Given the description of an element on the screen output the (x, y) to click on. 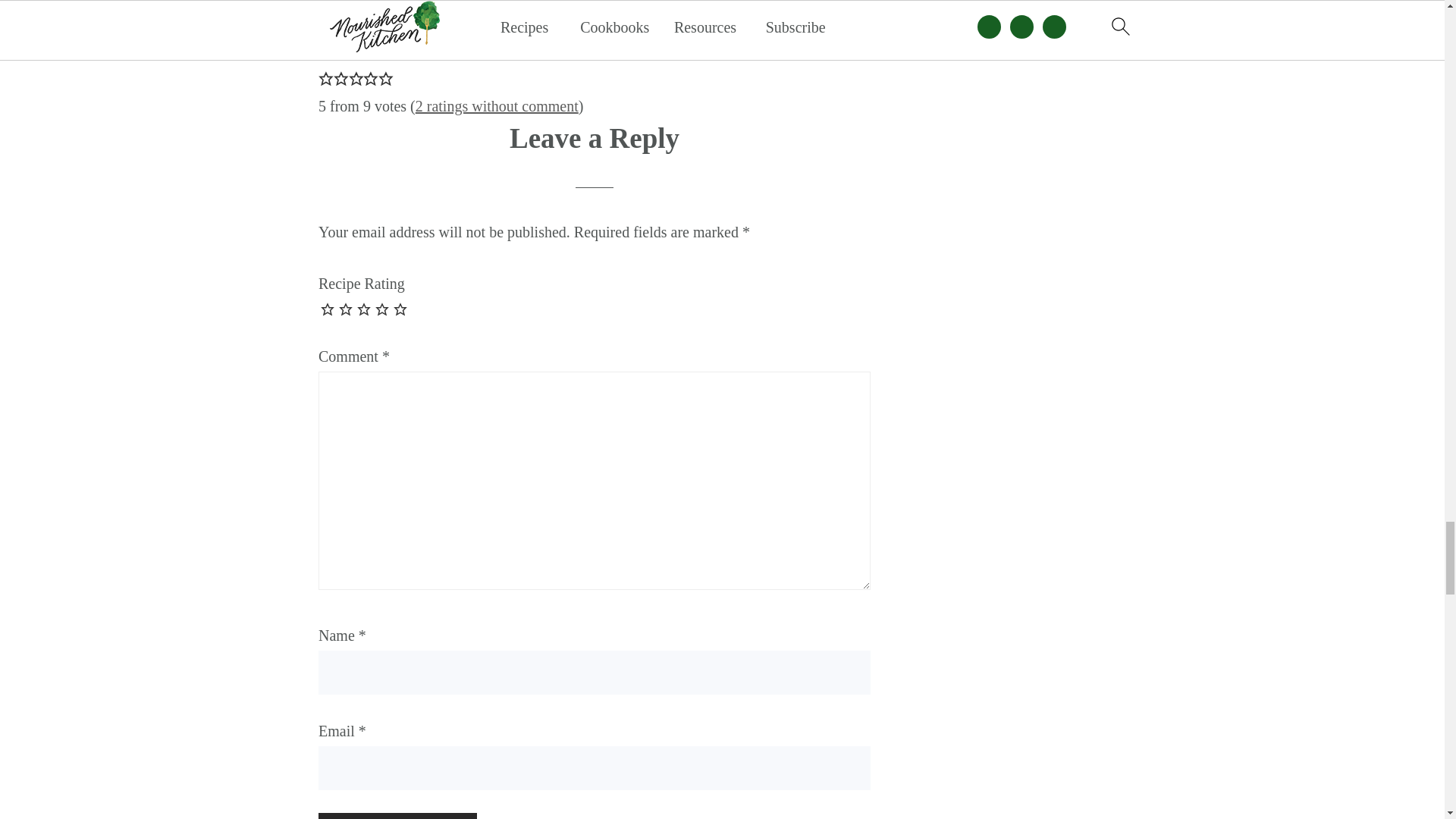
Post Comment (397, 816)
